Given the description of an element on the screen output the (x, y) to click on. 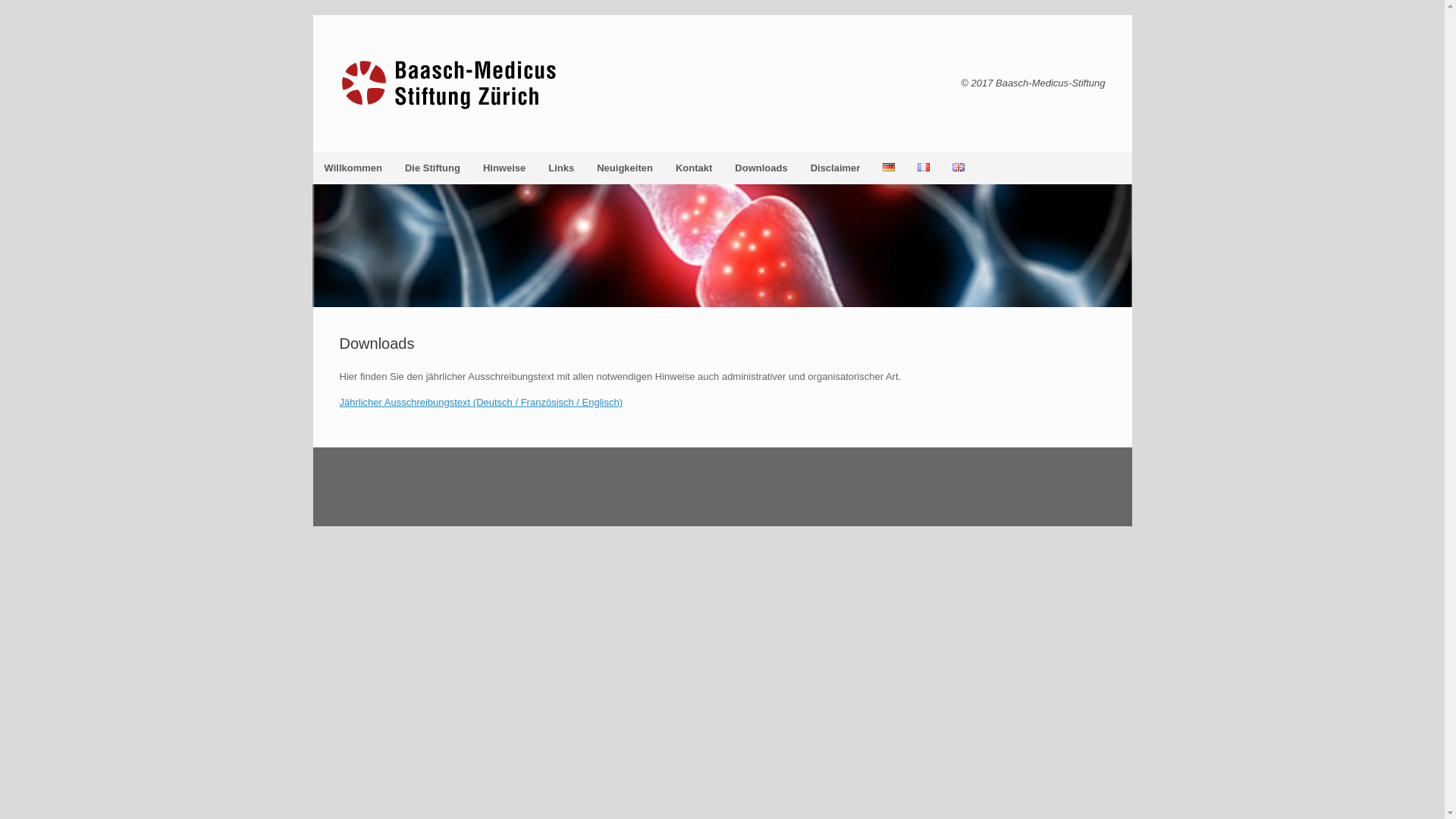
Disclaimer Element type: text (835, 167)
Hinweise Element type: text (503, 167)
Kontakt Element type: text (693, 167)
Downloads Element type: text (760, 167)
Neuigkeiten Element type: text (624, 167)
Willkommen Element type: text (352, 167)
SiteOrigin Element type: text (711, 495)
Links Element type: text (560, 167)
Die Stiftung Element type: text (432, 167)
